Given the description of an element on the screen output the (x, y) to click on. 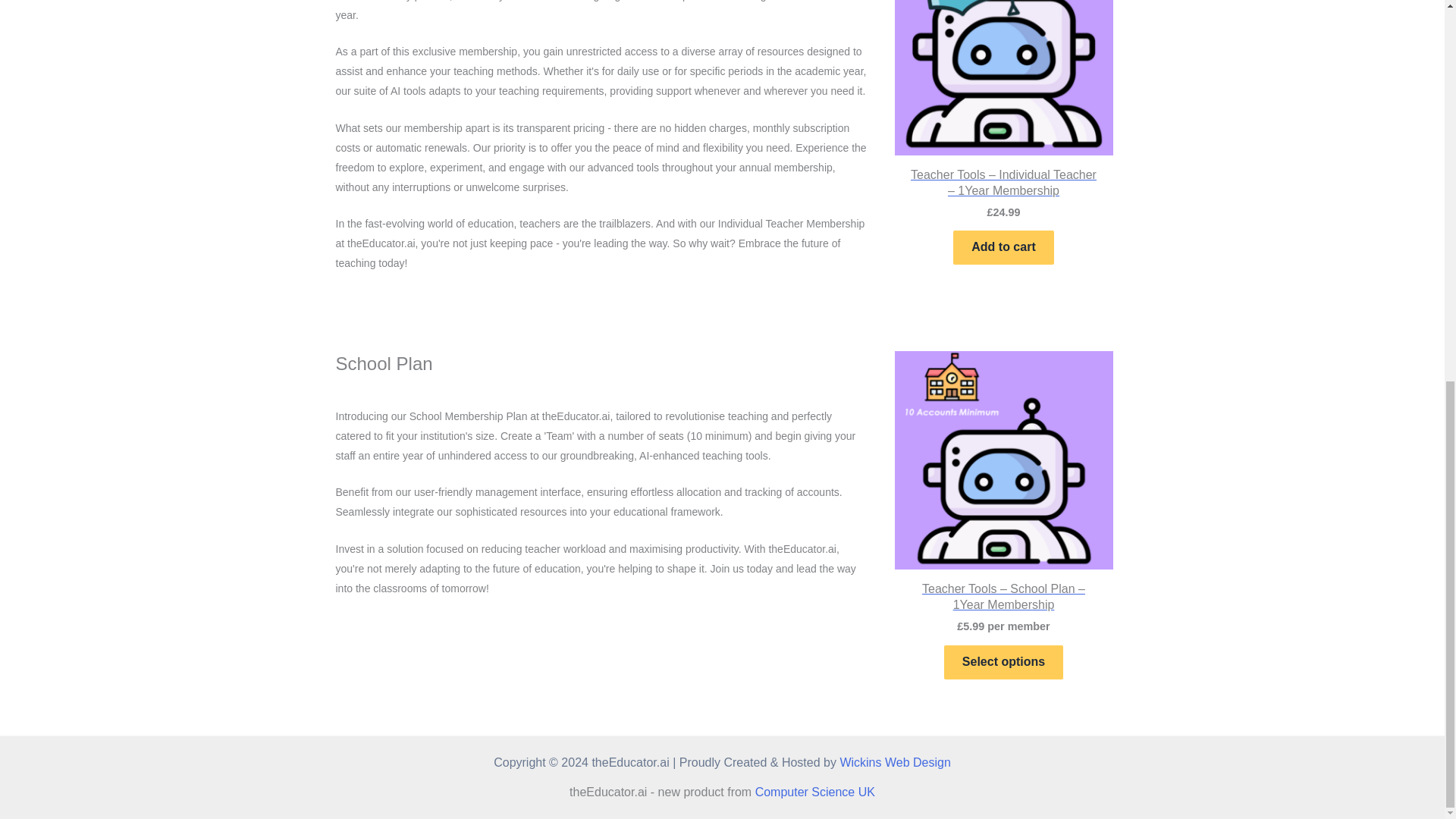
Select options (1002, 662)
Add to cart (1002, 247)
